Given the description of an element on the screen output the (x, y) to click on. 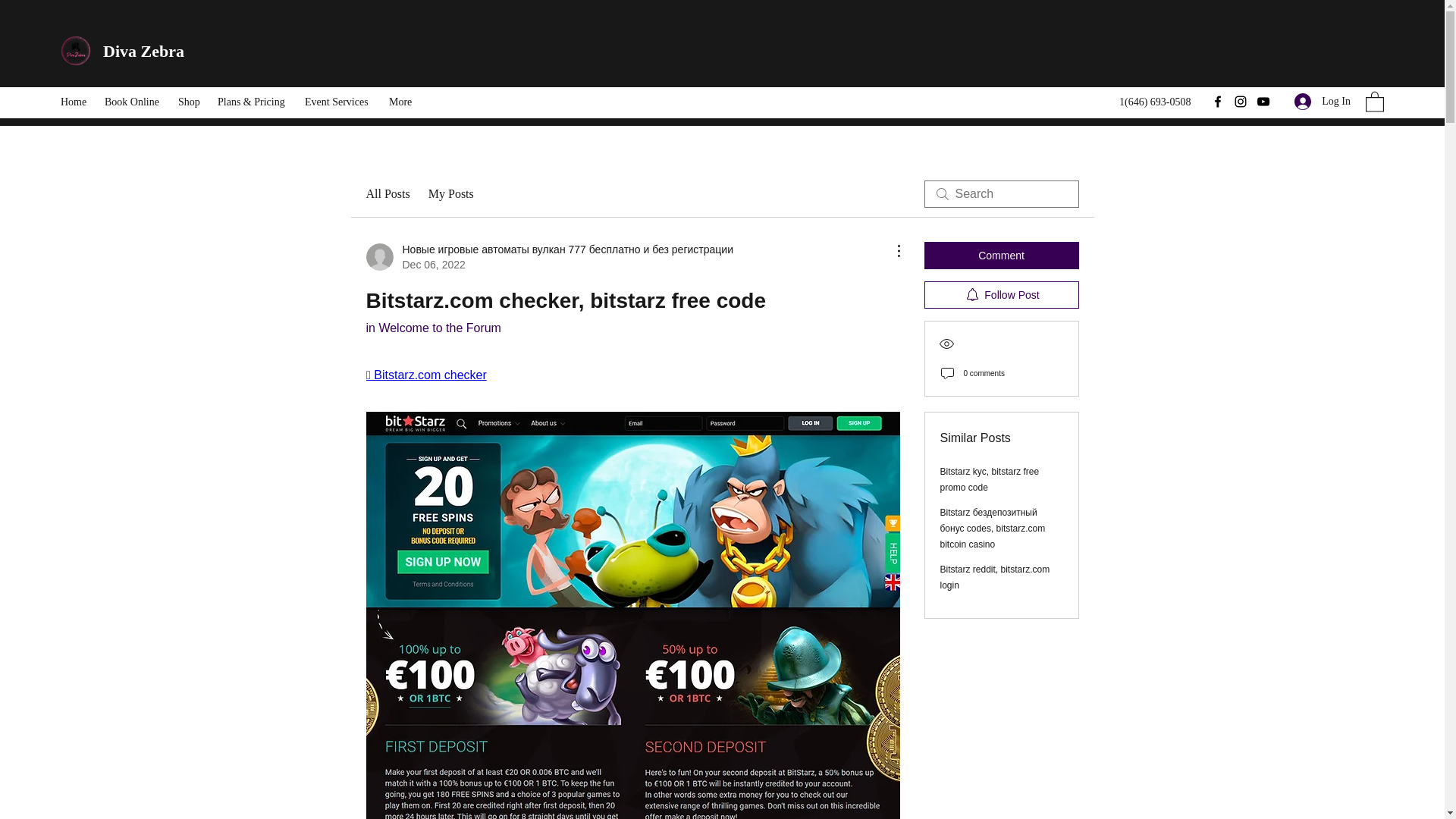
in Welcome to the Forum (432, 327)
Diva Zebra  (145, 50)
All Posts (387, 194)
Bitstarz kyc, bitstarz free promo code (989, 479)
Log In (1322, 100)
Book Online (133, 101)
Comment (1000, 255)
Follow Post (1000, 294)
Event Services (339, 101)
Bitstarz reddit, bitstarz.com login (994, 577)
Home (74, 101)
Shop (189, 101)
My Posts (451, 194)
